Given the description of an element on the screen output the (x, y) to click on. 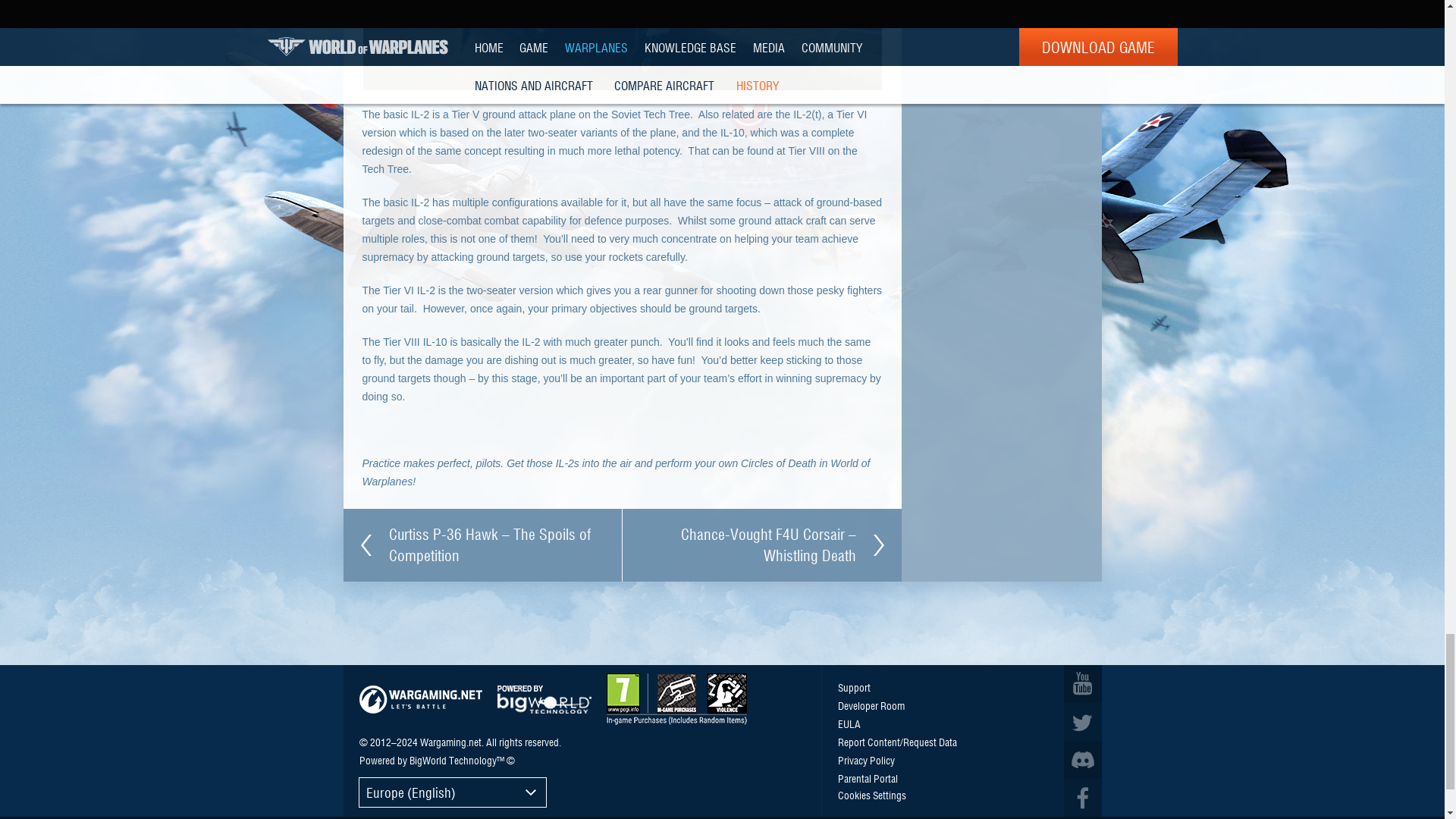
World of Warplanes community on Facebook (1081, 797)
Official World of Warplanes video channel (1081, 683)
wargaming.net (420, 699)
bigworldtech.com (544, 699)
World of Warplanes community on Discord (1081, 759)
World of Warplanes on Twitter (1081, 721)
pegi (676, 698)
